Given the description of an element on the screen output the (x, y) to click on. 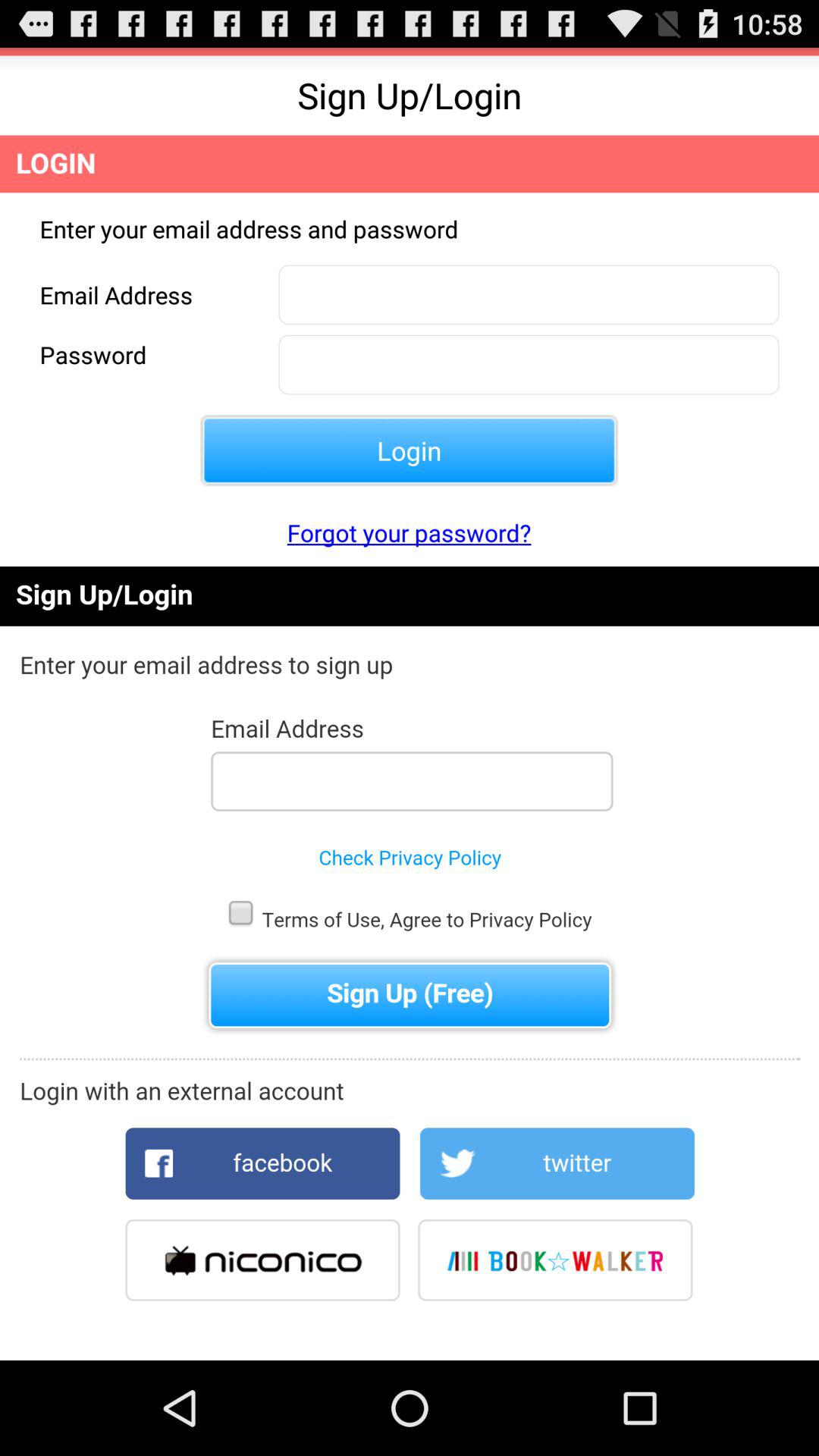
sign up/login page (409, 963)
